Given the description of an element on the screen output the (x, y) to click on. 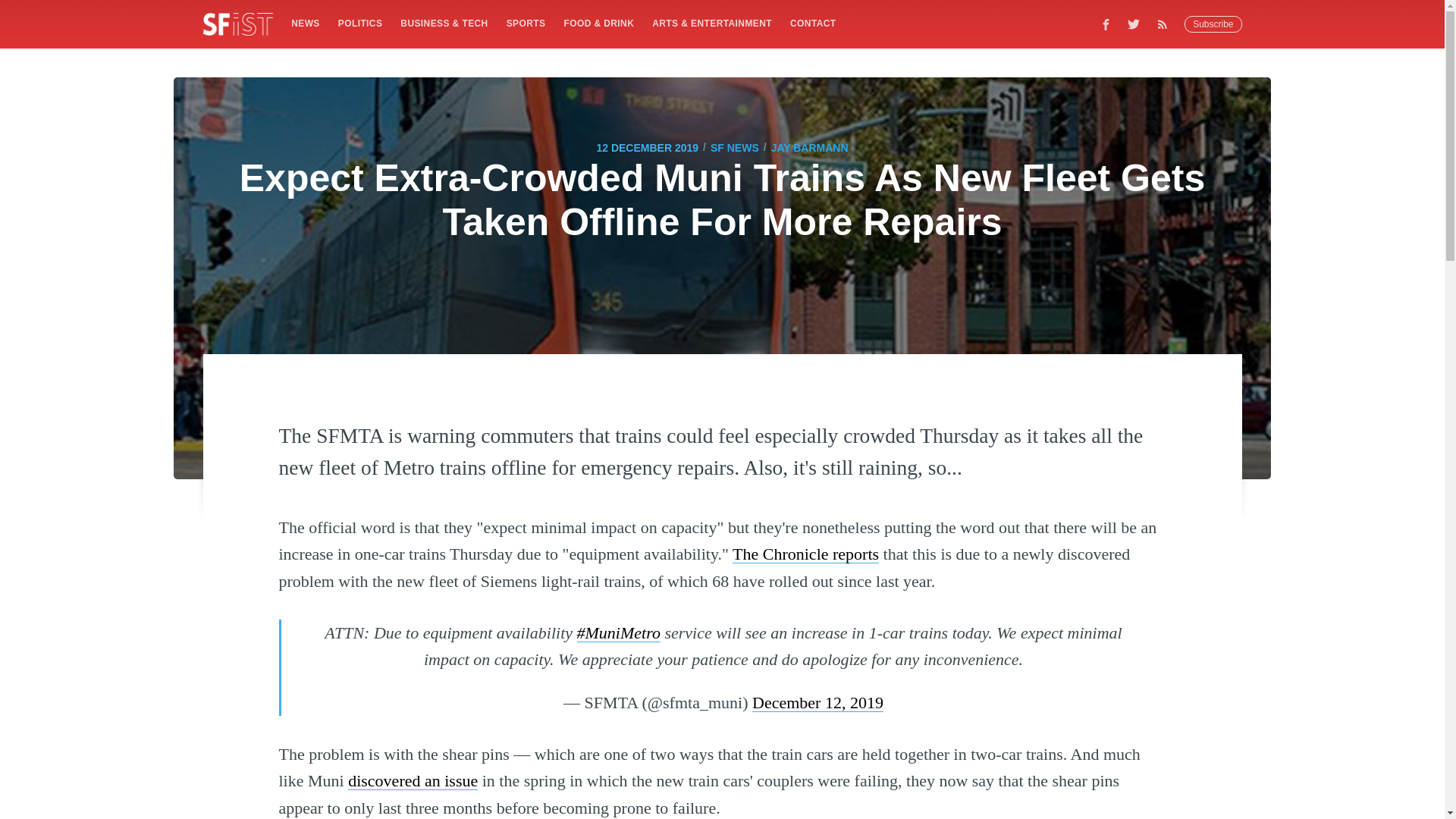
Twitter (1133, 23)
CONTACT (812, 23)
NEWS (305, 23)
The Chronicle reports (805, 553)
POLITICS (360, 23)
JAY BARMANN (809, 147)
SF NEWS (734, 147)
discovered an issue (412, 780)
SPORTS (525, 23)
Subscribe (1213, 23)
